Given the description of an element on the screen output the (x, y) to click on. 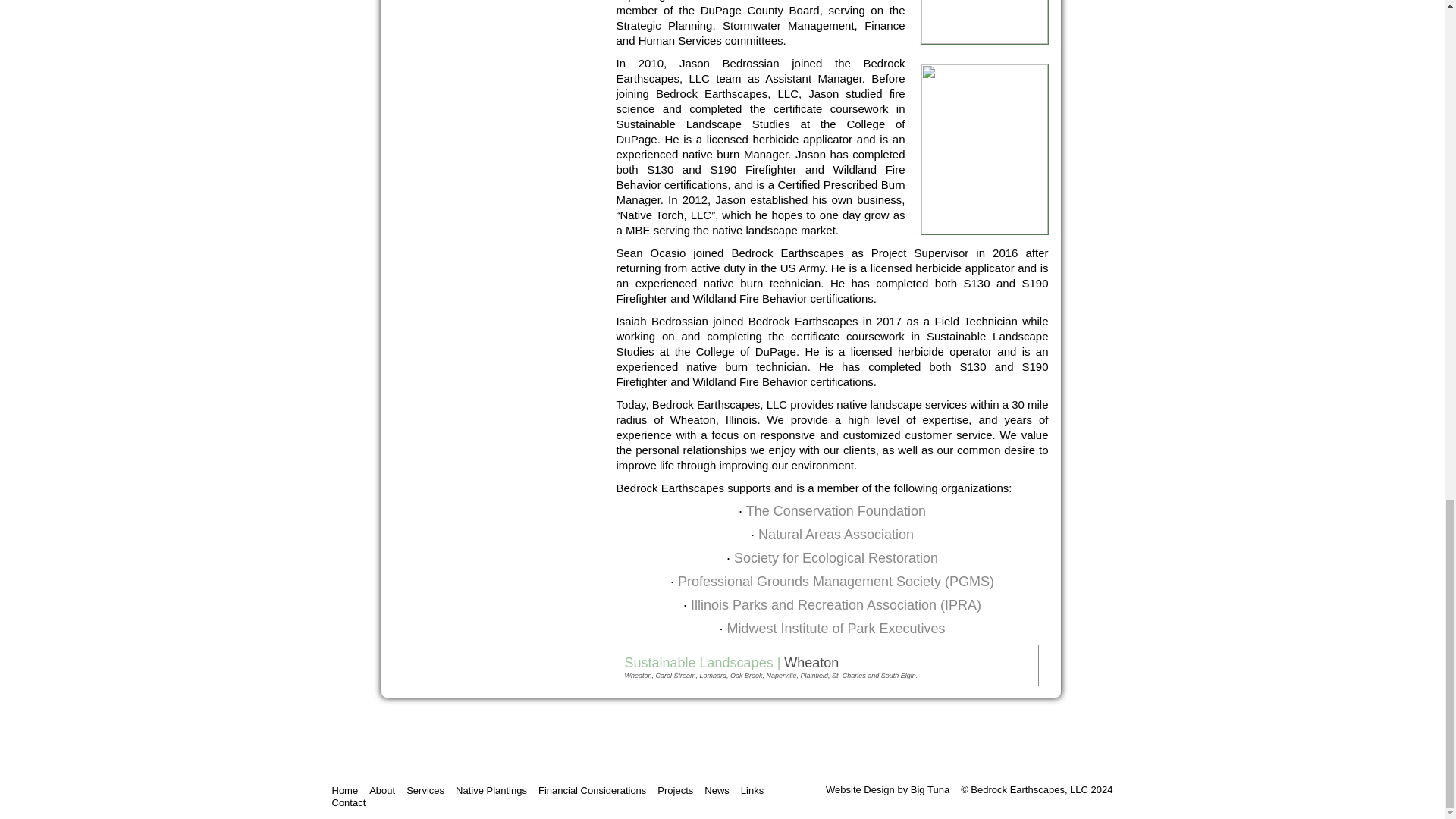
Native Plantings (493, 790)
News (719, 790)
About (385, 790)
Website Design (860, 789)
Services (427, 790)
Natural Areas Association (836, 534)
Projects (678, 790)
Home (348, 790)
Midwest Institute of Park Executives (835, 628)
Links (755, 790)
Society for Ecological Restoration (835, 557)
The Conservation Foundation (835, 510)
Contact (351, 802)
Big Tuna (930, 789)
Financial Considerations (595, 790)
